Given the description of an element on the screen output the (x, y) to click on. 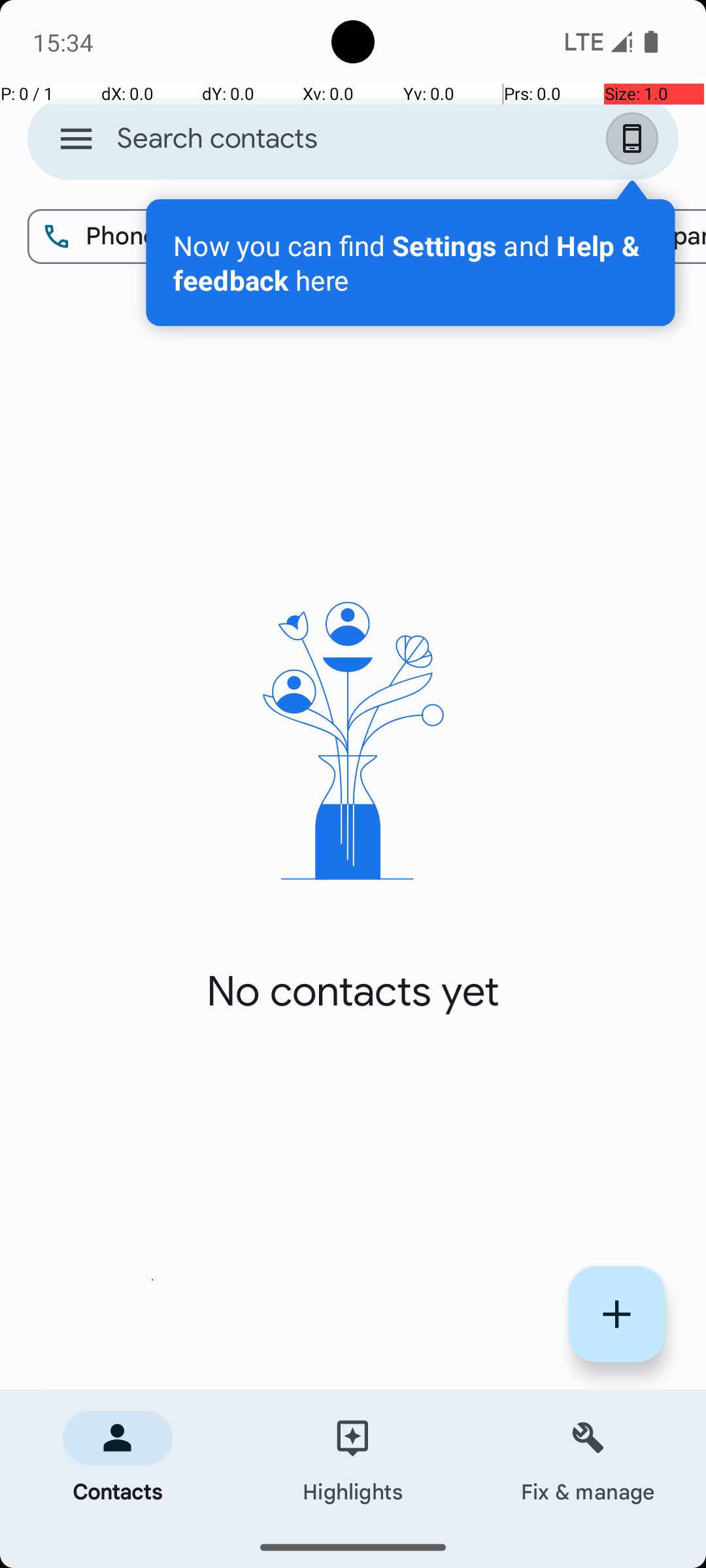
Create contact Element type: android.widget.ImageButton (616, 1314)
Contacts Element type: android.widget.FrameLayout (117, 1457)
Highlights Element type: android.widget.FrameLayout (352, 1457)
Fix & manage Element type: android.widget.FrameLayout (588, 1457)
Open navigation drawer Element type: android.widget.ImageButton (75, 138)
Signed in as Device
Account and settings. Element type: android.widget.FrameLayout (634, 138)
No contacts yet Element type: android.widget.TextView (353, 991)
Phone contacts Element type: android.widget.Button (157, 236)
Email contacts Element type: android.widget.Button (425, 236)
Company Element type: android.widget.Button (634, 236)
Now you can find Settings and Help & feedback here
Open account and settings. Element type: android.view.ViewGroup (409, 262)
Now you can find Settings and Help & feedback here Element type: android.widget.TextView (410, 262)
